Given the description of an element on the screen output the (x, y) to click on. 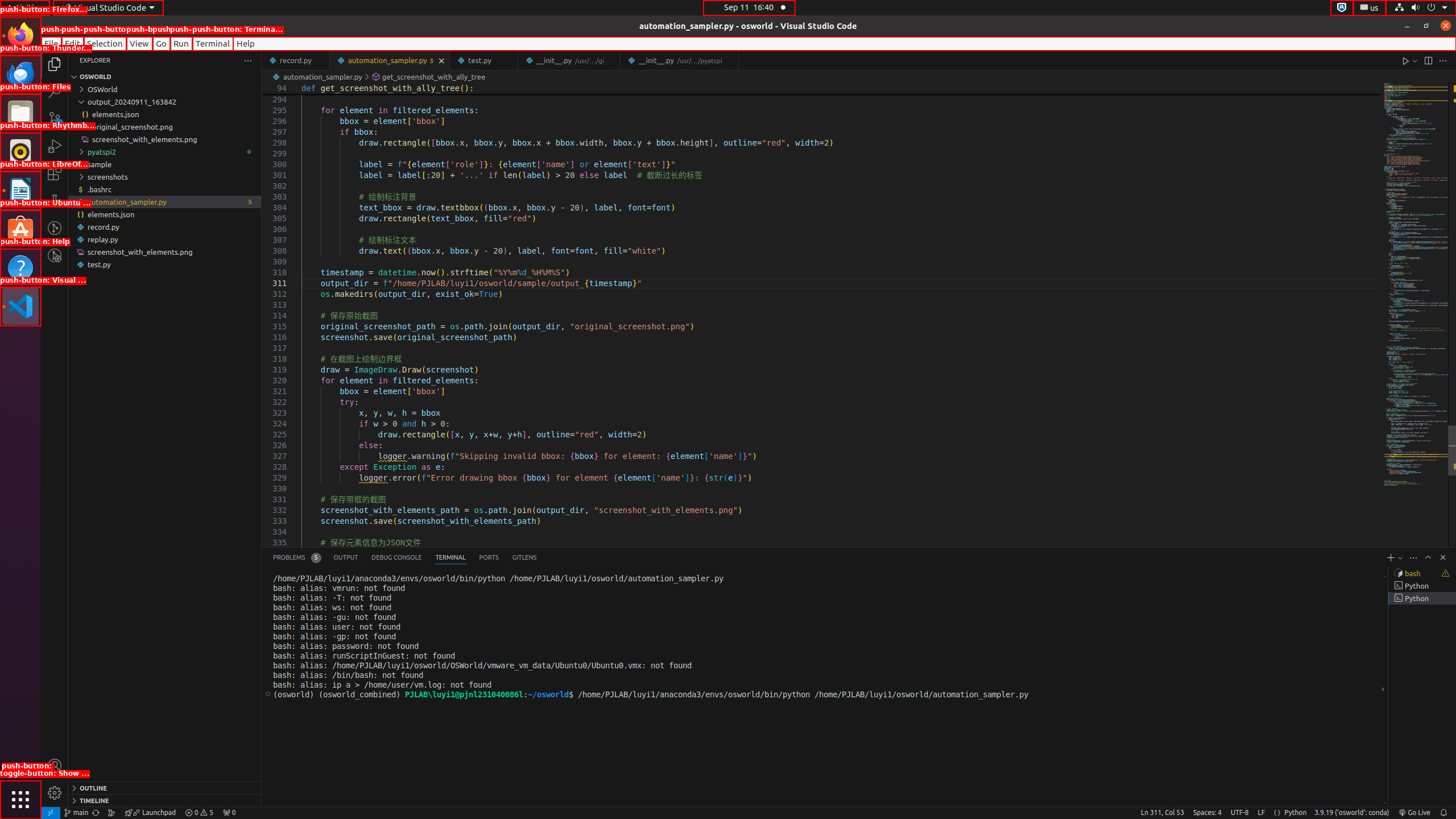
Firefox Web Browser Element type: push-button (20, 35)
File Element type: push-button (50, 43)
